Given the description of an element on the screen output the (x, y) to click on. 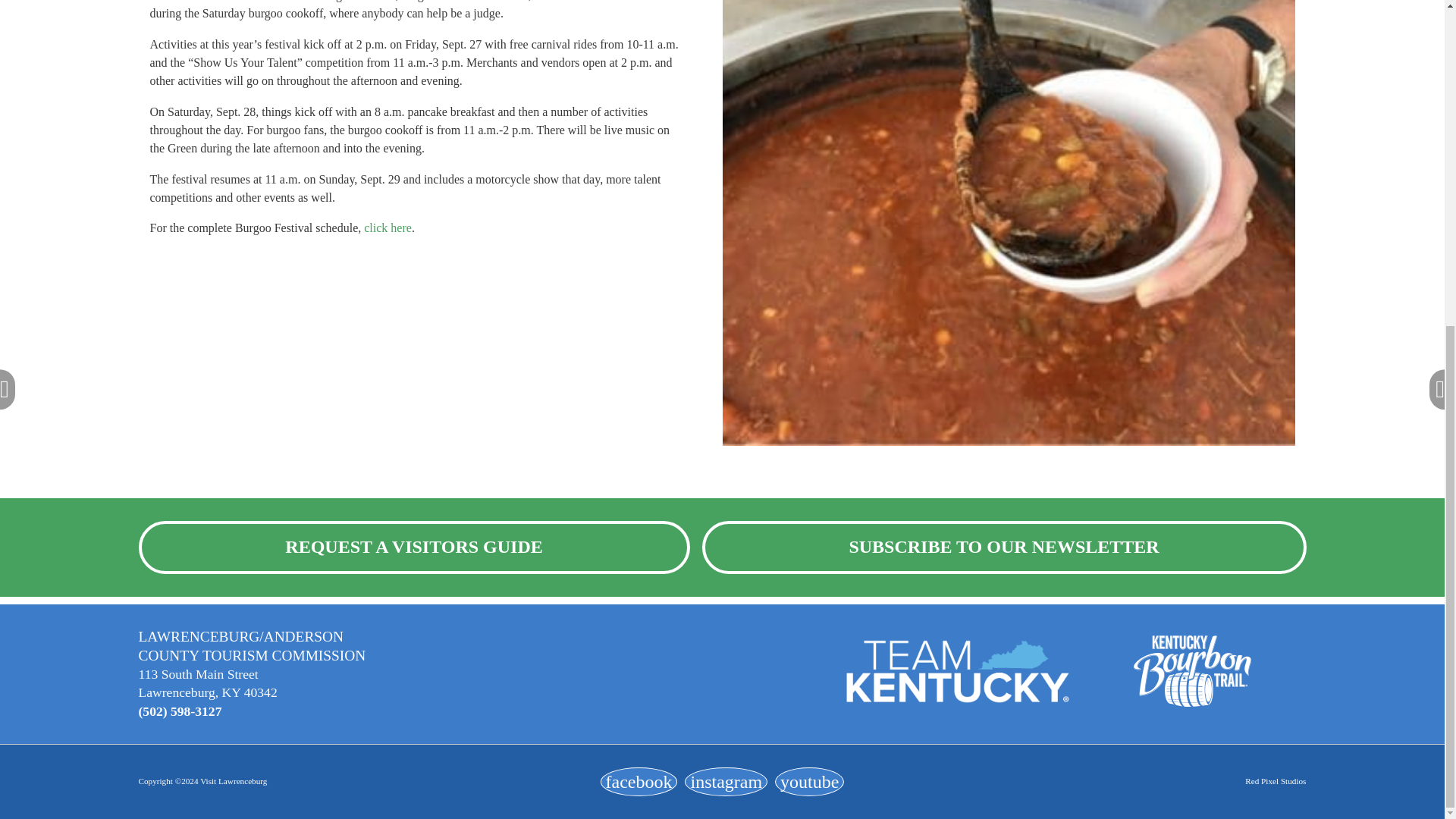
Opens in a new tab or window (809, 781)
Opens in a new tab or window (725, 781)
Opens in a new tab or window (638, 781)
click here (388, 227)
